Given the description of an element on the screen output the (x, y) to click on. 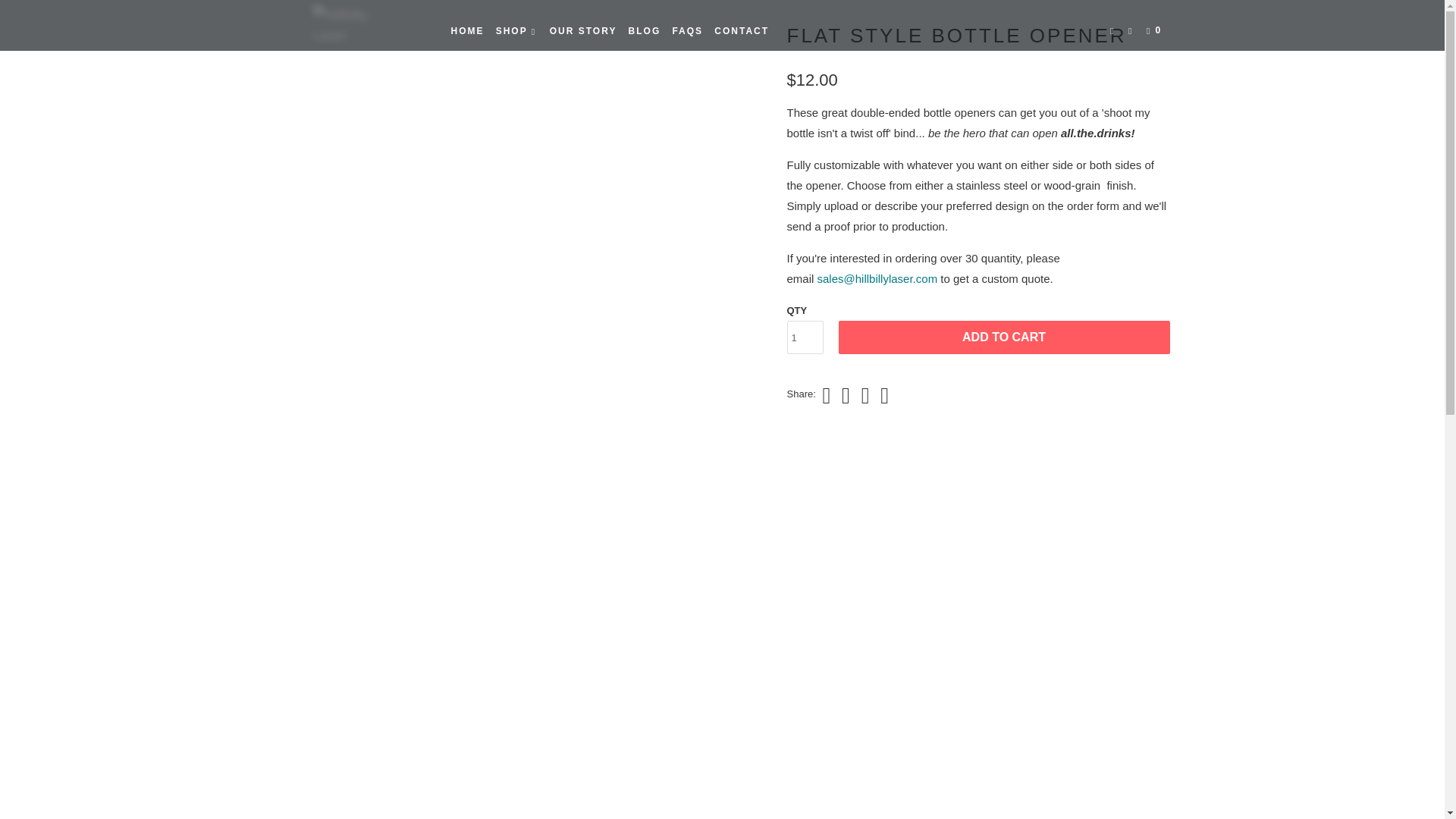
HOME (466, 30)
SHOP (517, 30)
Hillbilly Laser (352, 24)
1 (805, 337)
